Given the description of an element on the screen output the (x, y) to click on. 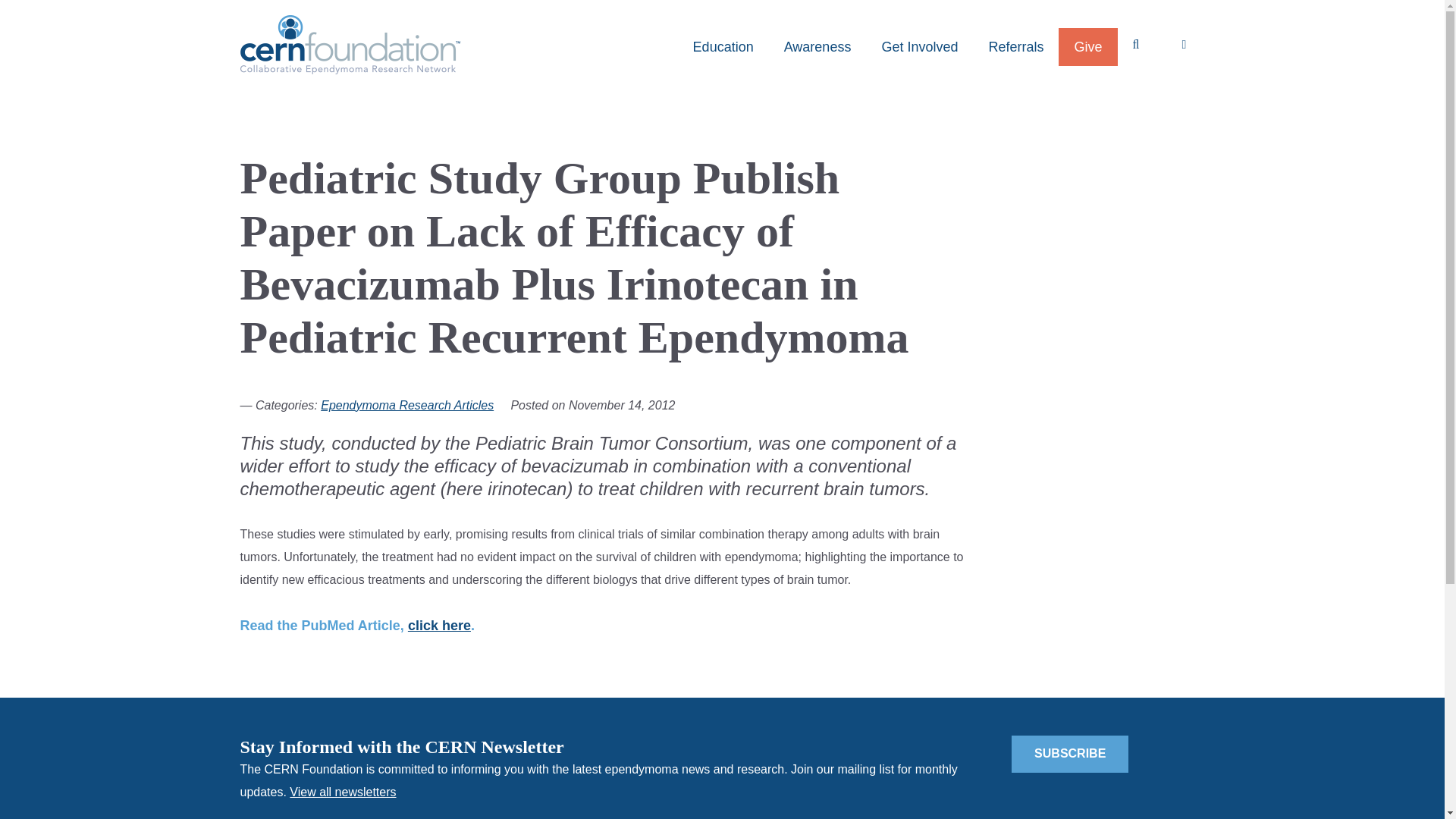
Cern Foundation (350, 44)
Get Involved (919, 46)
Referrals (1015, 46)
Give (1087, 46)
SUBSCRIBE (1069, 754)
Education (723, 46)
View all newsletters (342, 791)
Ependymoma Research Articles (406, 404)
Awareness (817, 46)
click here (438, 625)
